Given the description of an element on the screen output the (x, y) to click on. 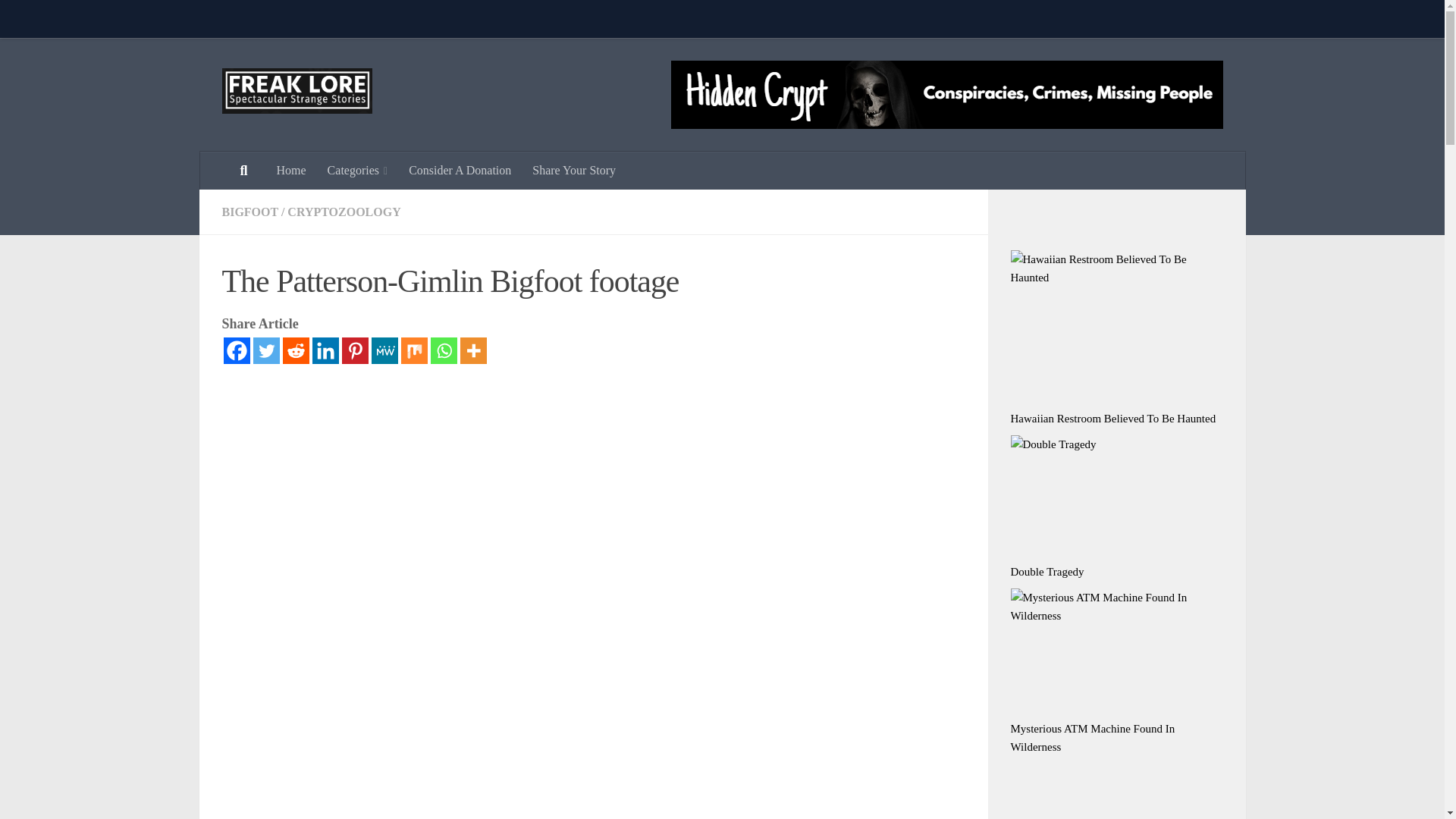
More (473, 350)
Facebook (235, 350)
MeWe (384, 350)
Twitter (266, 350)
Consider A Donation (459, 170)
CRYPTOZOOLOGY (343, 211)
Whatsapp (443, 350)
Home (289, 170)
Mix (413, 350)
Skip to content (59, 20)
Share Your Story (573, 170)
Categories (357, 170)
Reddit (295, 350)
Linkedin (326, 350)
Pinterest (354, 350)
